Given the description of an element on the screen output the (x, y) to click on. 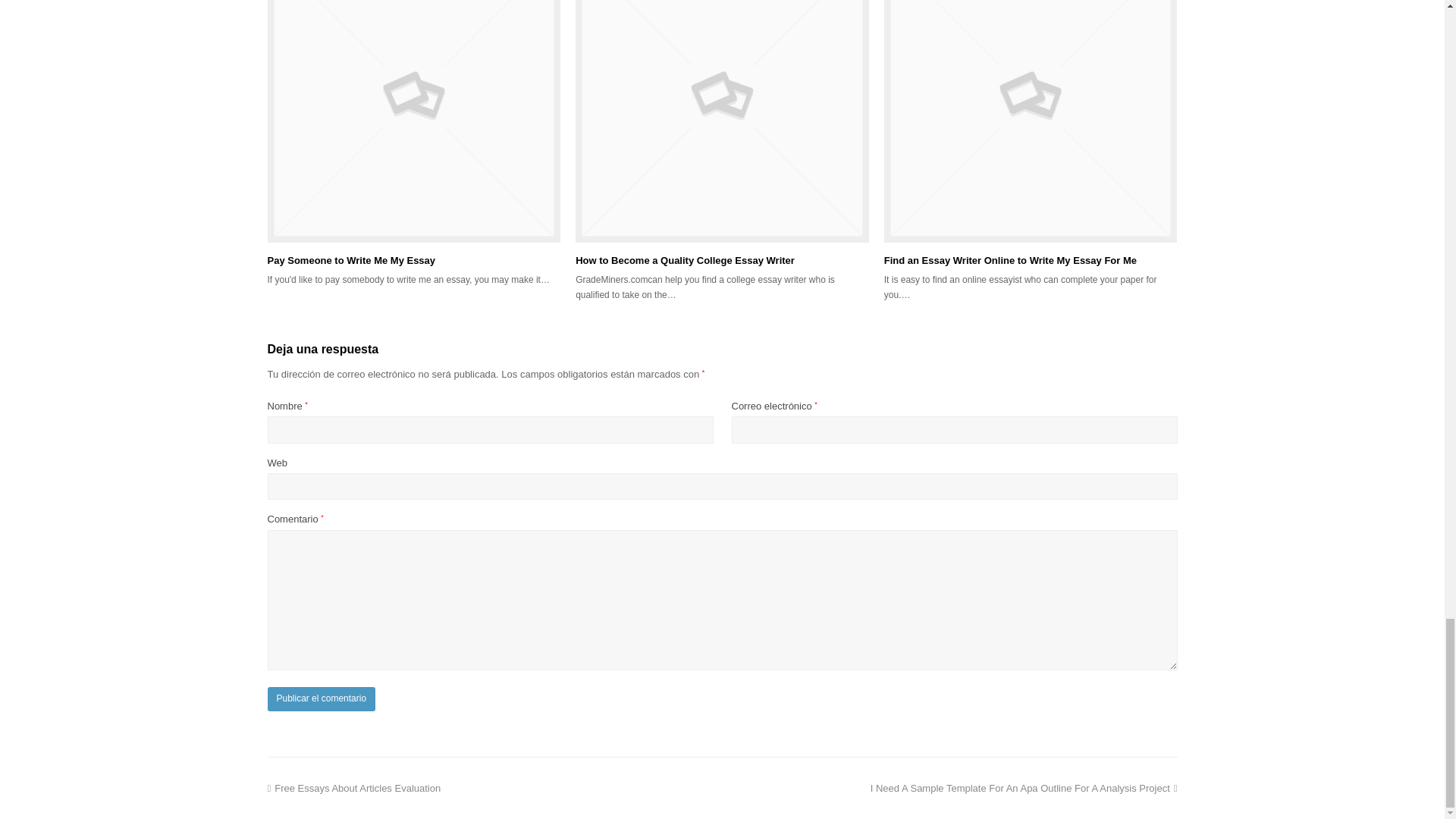
Find an Essay Writer Online to Write My Essay For Me (1030, 121)
Pay Someone to Write Me My Essay (413, 121)
Publicar el comentario (320, 699)
Publicar el comentario (320, 699)
How to Become a Quality College Essay Writer (353, 787)
Find an Essay Writer Online to Write My Essay For Me (684, 260)
How to Become a Quality College Essay Writer (1010, 260)
Pay Someone to Write Me My Essay (722, 121)
